Given the description of an element on the screen output the (x, y) to click on. 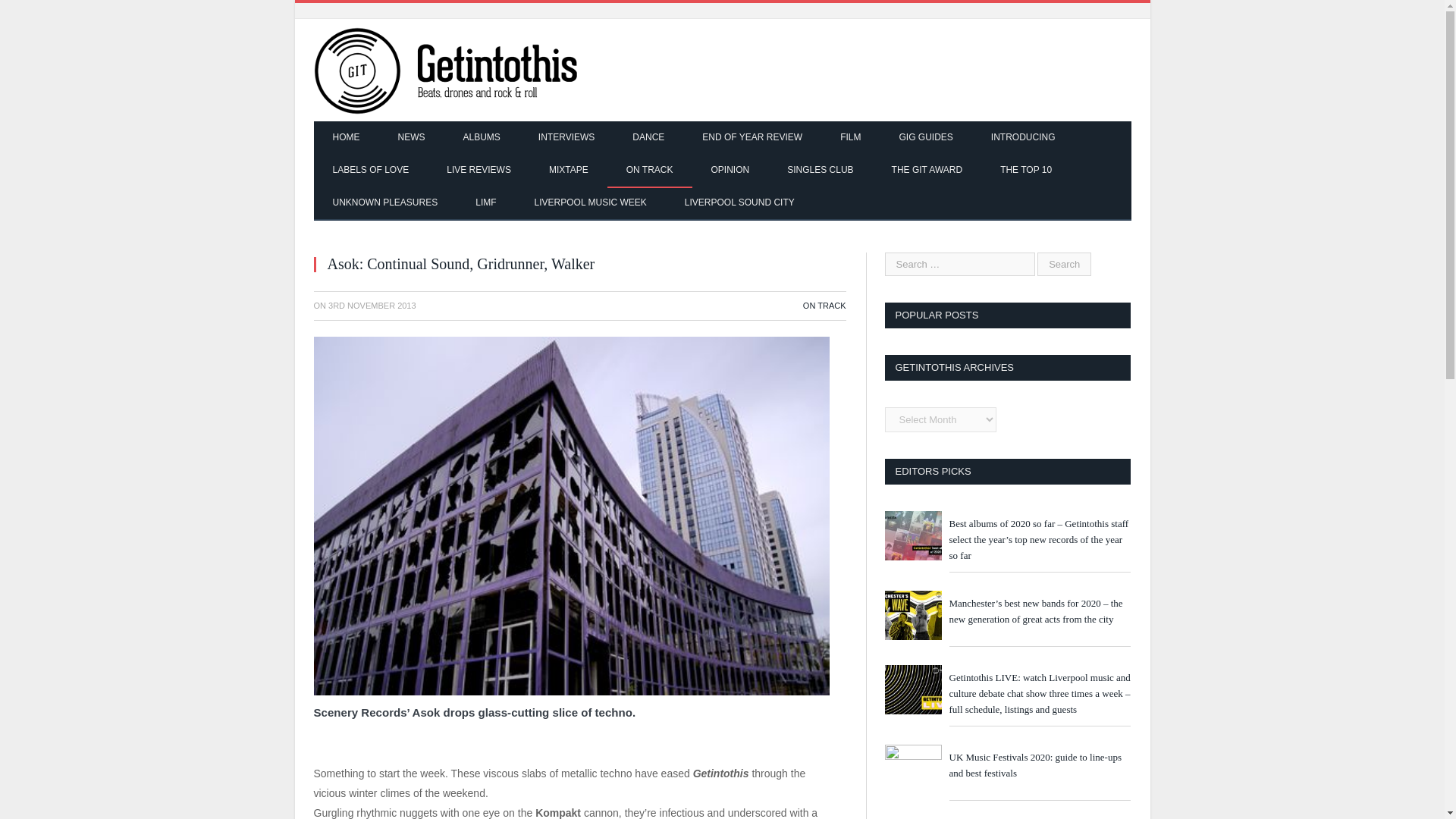
DANCE (647, 138)
Search (1063, 264)
Search (1063, 264)
LIVE REVIEWS (478, 170)
FILM (850, 138)
ALBUMS (481, 138)
LIVERPOOL MUSIC WEEK (590, 203)
HOME (346, 138)
THE GIT AWARD (926, 170)
LABELS OF LOVE (371, 170)
LIMF (486, 203)
LIVERPOOL SOUND CITY (739, 203)
INTRODUCING (1023, 138)
